Given the description of an element on the screen output the (x, y) to click on. 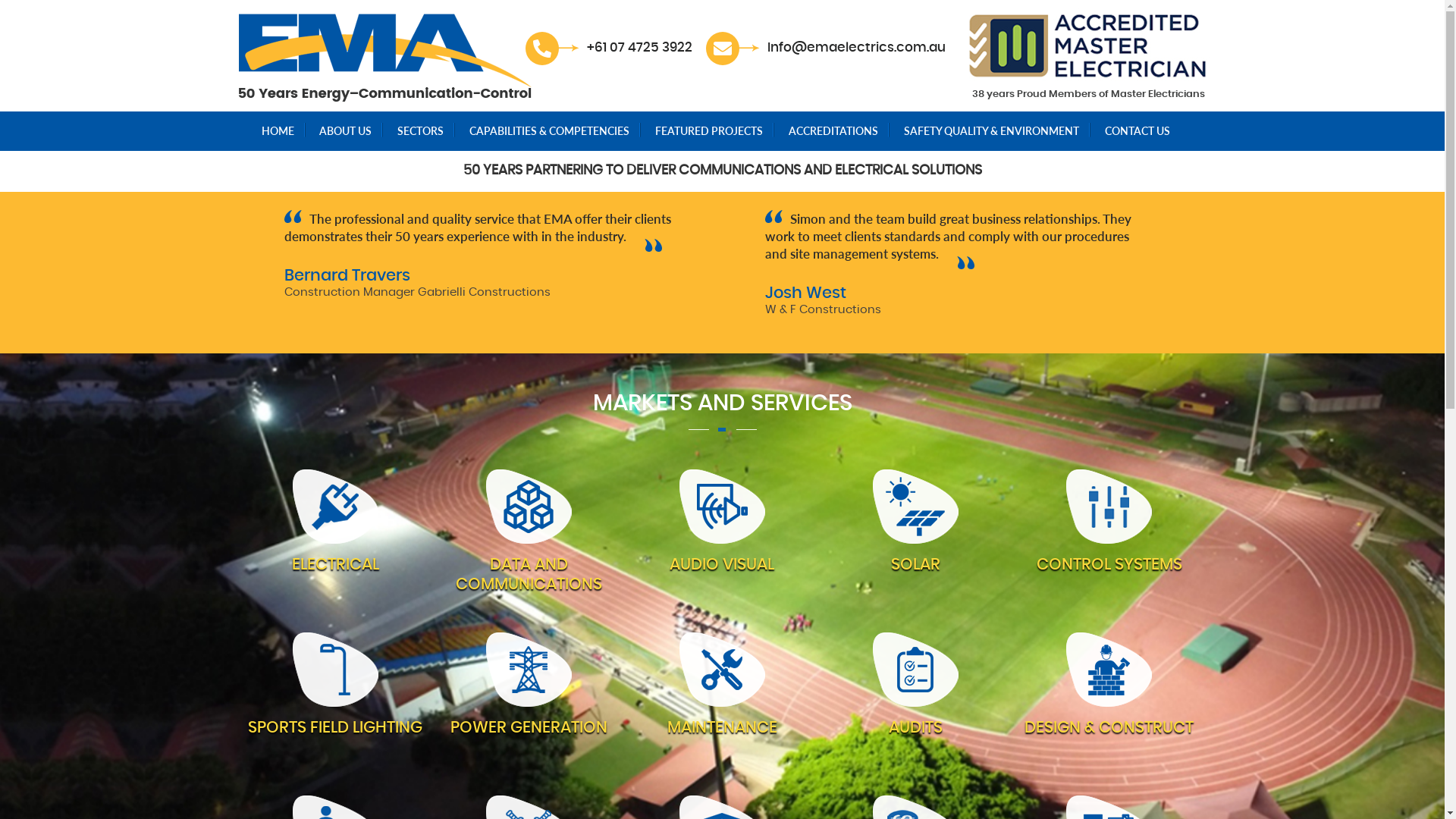
MAINTENANCE Element type: text (722, 694)
SOLAR Element type: text (915, 531)
CONTACT US Element type: text (1137, 130)
CAPABILITIES & COMPETENCIES Element type: text (549, 130)
Info@emaelectrics.com.au Element type: text (856, 47)
DESIGN & CONSTRUCT Element type: text (1108, 694)
DATA AND COMMUNICATIONS Element type: text (528, 531)
ELECTRICAL Element type: text (334, 531)
ABOUT US Element type: text (344, 130)
ACCREDITATIONS Element type: text (833, 130)
POWER GENERATION Element type: text (528, 694)
FEATURED PROJECTS Element type: text (708, 130)
CONTROL SYSTEMS Element type: text (1108, 531)
AUDIO VISUAL Element type: text (722, 531)
SPORTS FIELD LIGHTING Element type: text (334, 694)
SAFETY QUALITY & ENVIRONMENT Element type: text (991, 130)
+61 07 4725 3922 Element type: text (639, 47)
HOME Element type: text (277, 130)
AUDITS Element type: text (915, 694)
SECTORS Element type: text (420, 130)
